Given the description of an element on the screen output the (x, y) to click on. 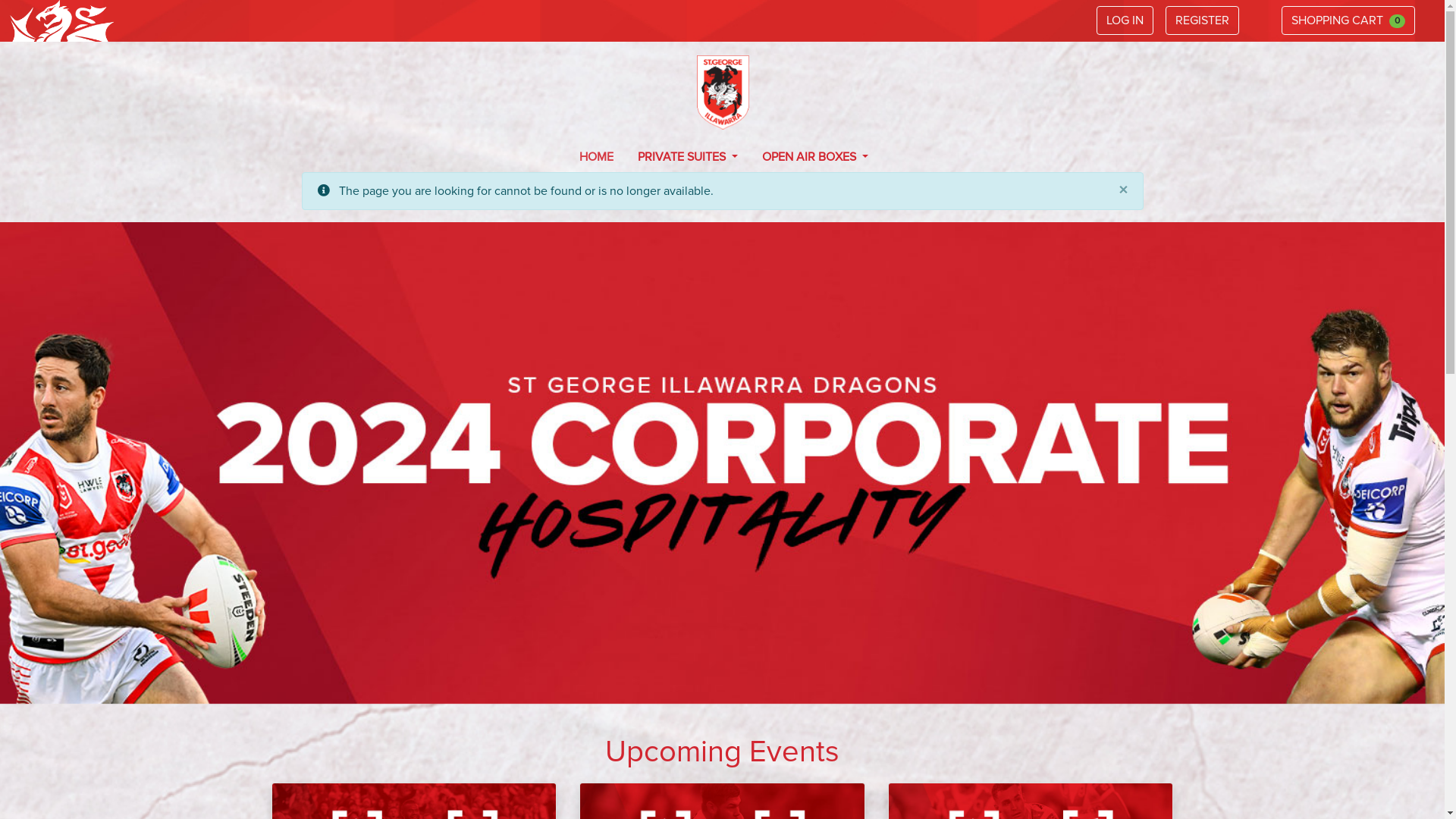
PRIVATE SUITES Element type: text (687, 156)
HOME Element type: text (596, 156)
SHOPPING CART0 Element type: text (1348, 20)
LOG IN Element type: text (1124, 20)
OPEN AIR BOXES Element type: text (814, 156)
2024 Corporate Hospitality Element type: hover (722, 462)
REGISTER Element type: text (1202, 20)
